Given the description of an element on the screen output the (x, y) to click on. 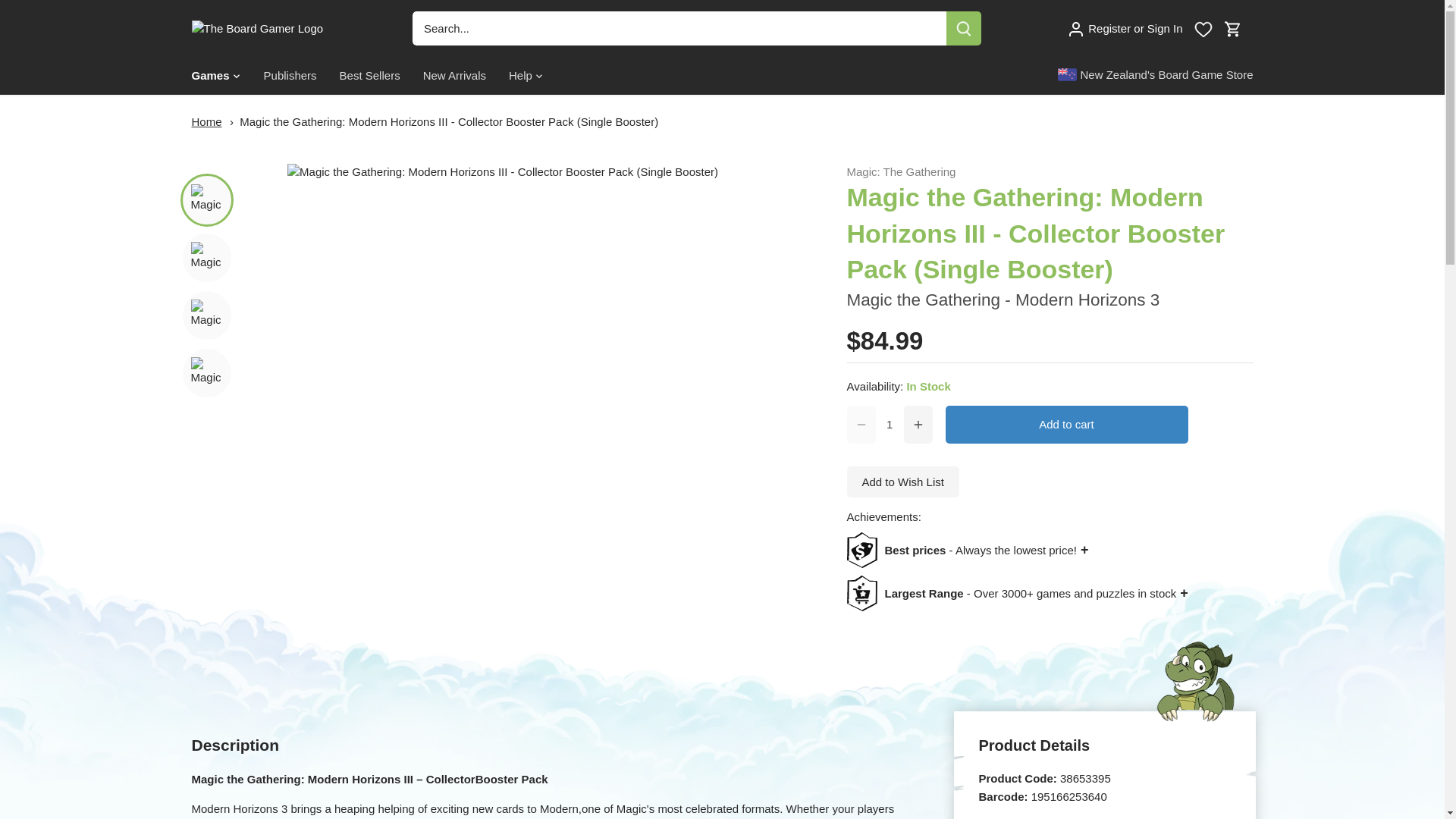
Home (205, 121)
New Arrivals (454, 75)
Best Sellers (370, 75)
Publishers (290, 75)
Games (215, 75)
Help (520, 75)
Register or Sign In (1124, 28)
Home (205, 121)
